Given the description of an element on the screen output the (x, y) to click on. 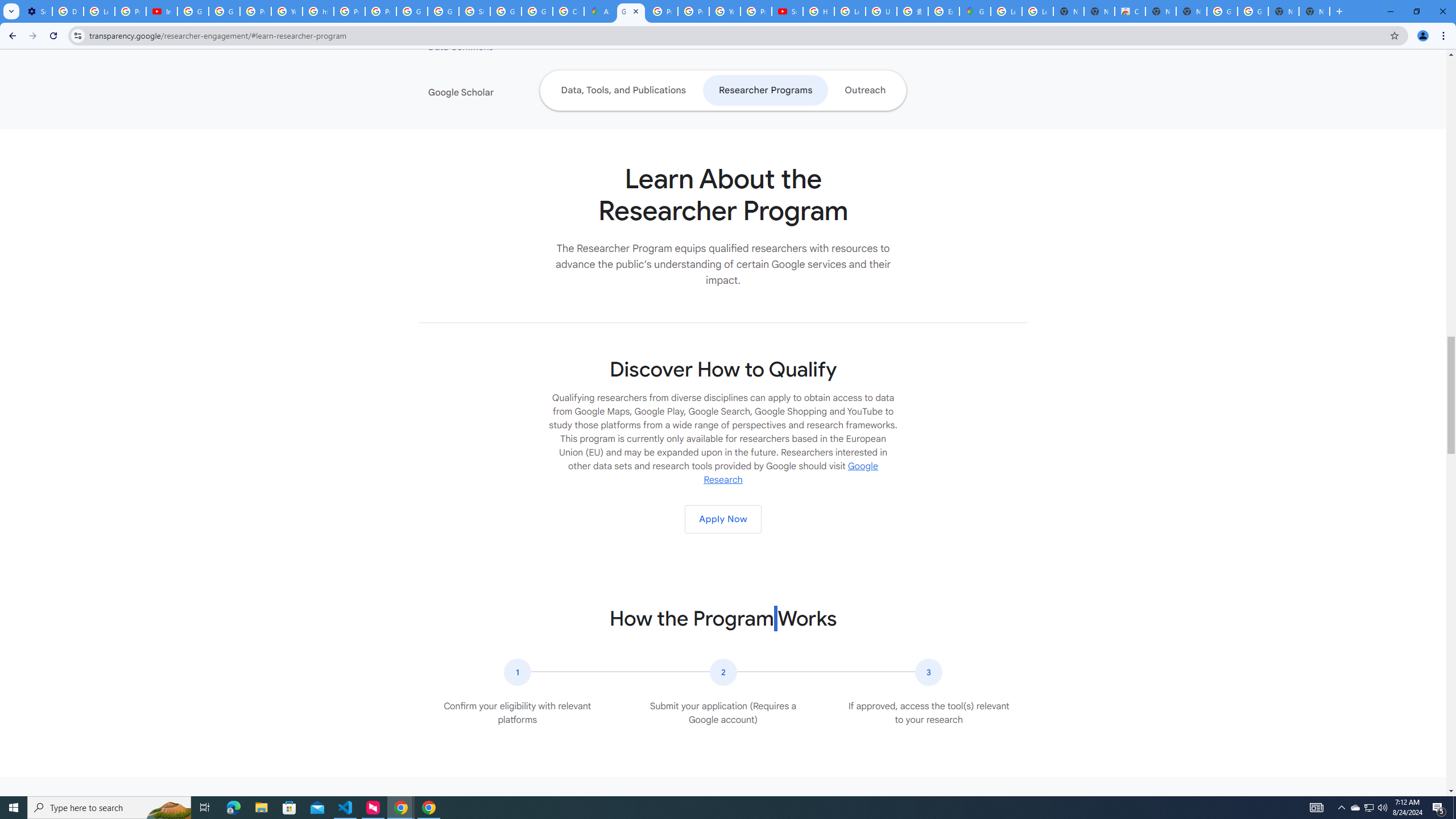
Researcher Programs (764, 90)
Google Scholar (497, 92)
Google Maps (974, 11)
The number three in a circular icon. (929, 672)
Settings - Performance (36, 11)
Chrome Web Store (1129, 11)
